Given the description of an element on the screen output the (x, y) to click on. 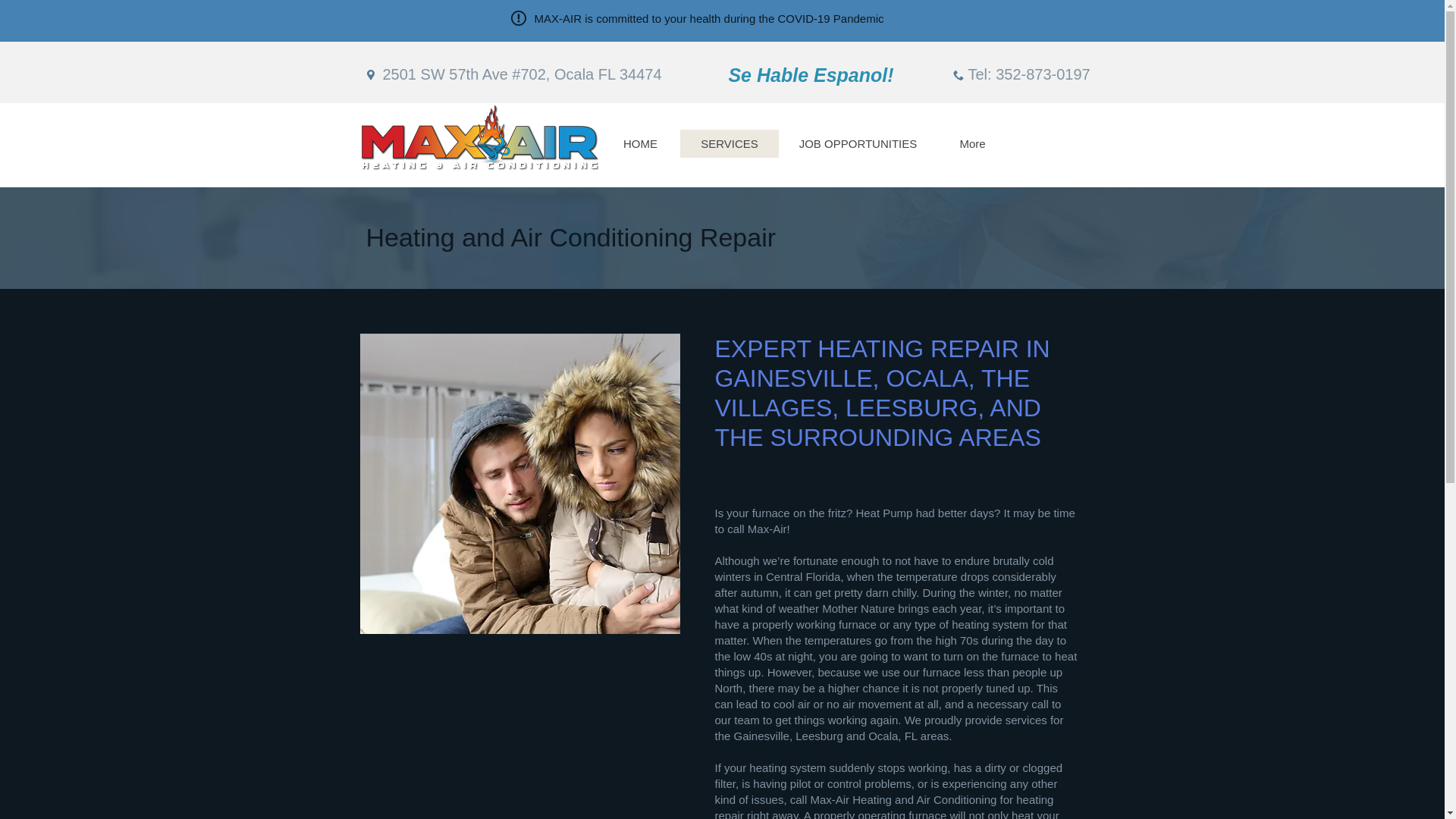
max-air-conditioning-and-heat-in-ocala Logo.png (480, 137)
SERVICES (728, 143)
HOME (639, 143)
Ocala, FL (892, 735)
Gainesville (761, 735)
JOB OPPORTUNITIES (856, 143)
Leesburg (818, 735)
